Given the description of an element on the screen output the (x, y) to click on. 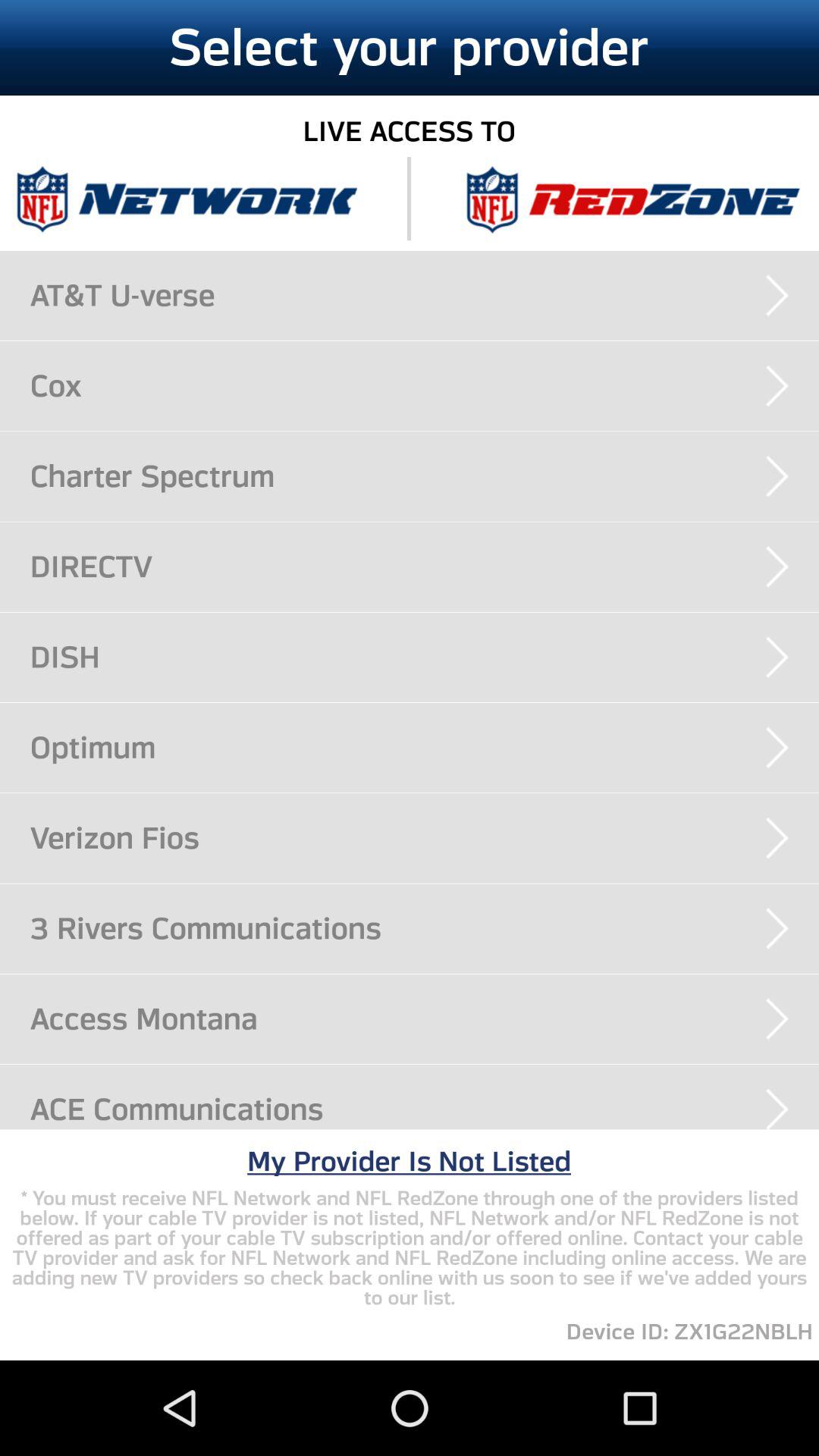
select the item above the my provider is icon (424, 1109)
